Given the description of an element on the screen output the (x, y) to click on. 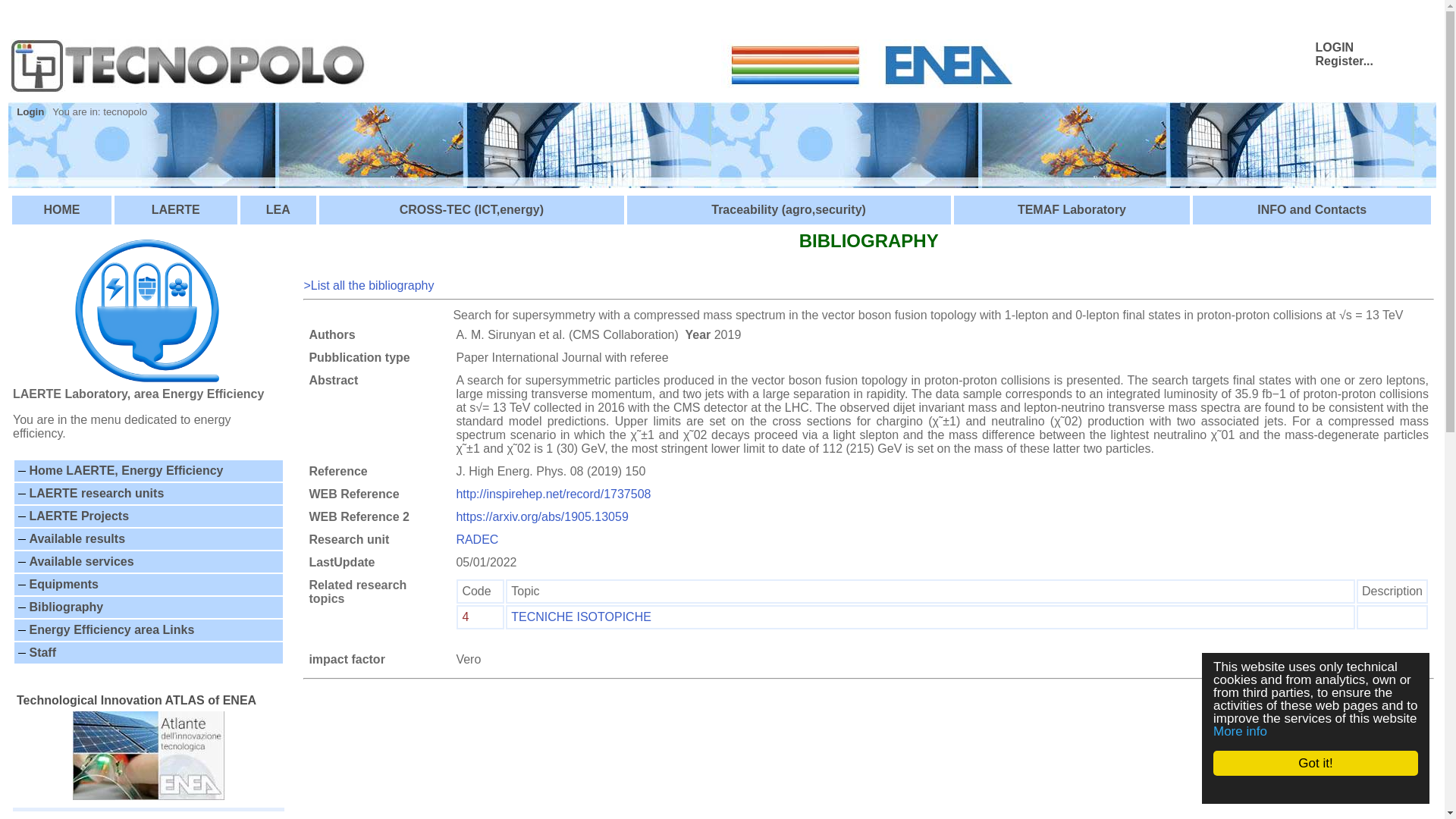
INFO and Contacts (1312, 209)
HOME (61, 209)
LAERTE research units (96, 492)
Skip to Main Content (62, 11)
Cookie Consent plugin for the EU cookie law (1330, 789)
LAERTE (175, 209)
Home LAERTE, Energy Efficiency (125, 470)
Energy Efficiency area Links (111, 629)
Login (29, 111)
Go to Login (29, 111)
More info (1254, 730)
LAERTE Projects (79, 515)
